Given the description of an element on the screen output the (x, y) to click on. 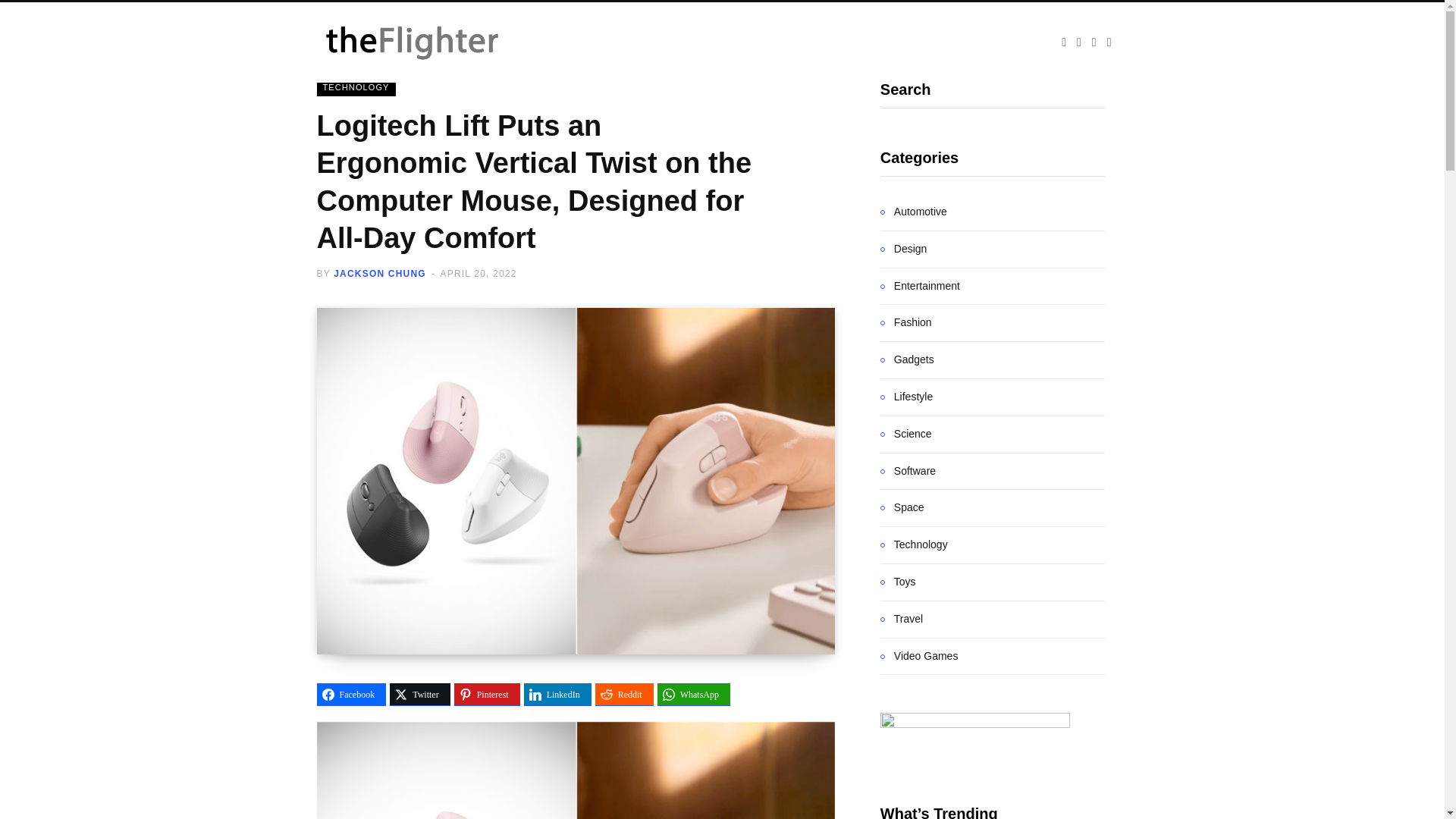
Automotive (913, 212)
TECHNOLOGY (356, 86)
Share on LinkedIn (557, 694)
Twitter (419, 694)
The Flighter (430, 42)
Facebook (352, 694)
Share on Pinterest (486, 694)
APRIL 20, 2022 (478, 273)
Share on Twitter (419, 694)
Reddit (624, 694)
Share on Reddit (624, 694)
LinkedIn (557, 694)
Share on Facebook (352, 694)
Pinterest (486, 694)
